Given the description of an element on the screen output the (x, y) to click on. 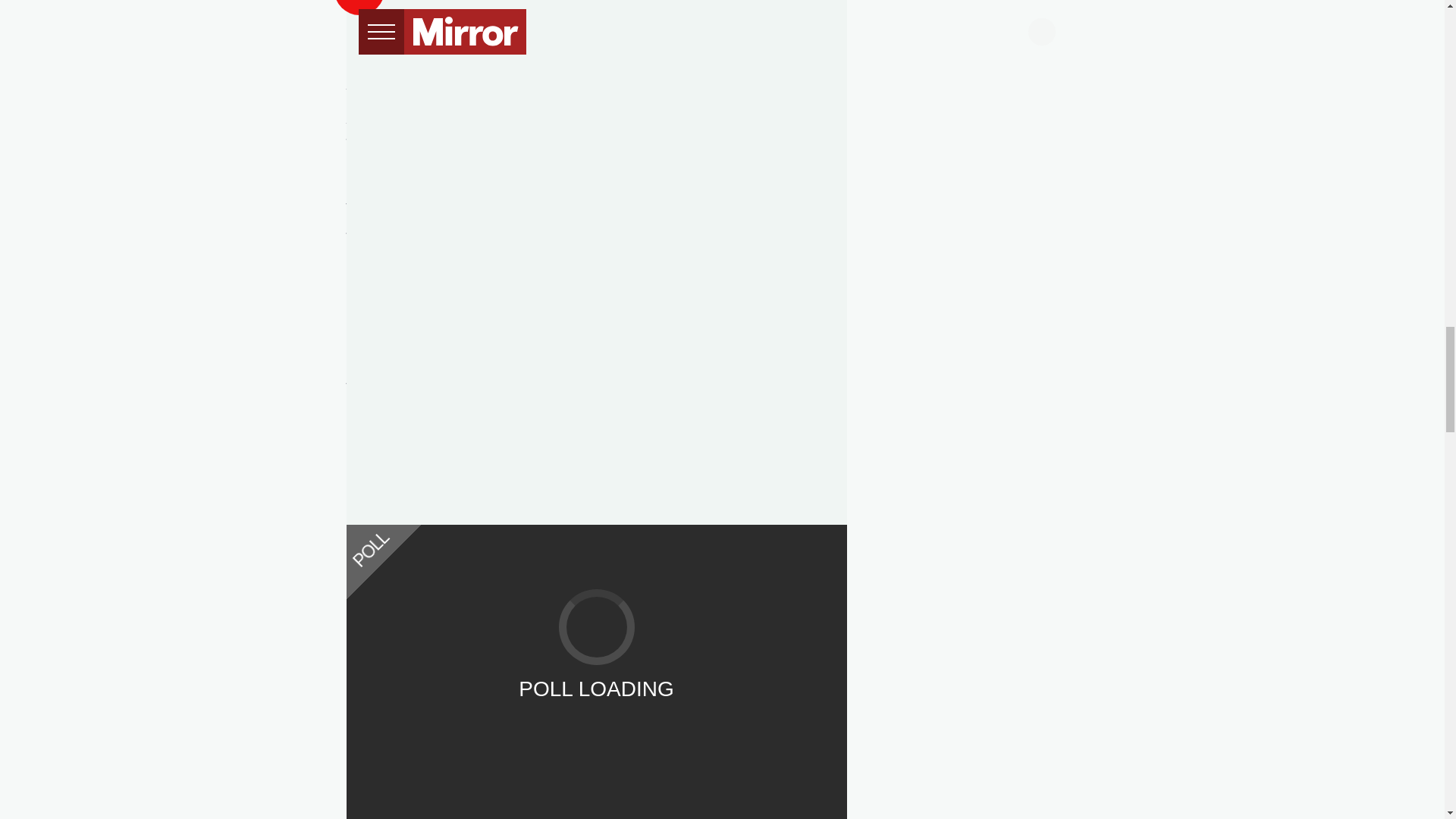
Personalised beds (596, 759)
Decor contact lenses (596, 708)
Smart fabrics (596, 656)
